Given the description of an element on the screen output the (x, y) to click on. 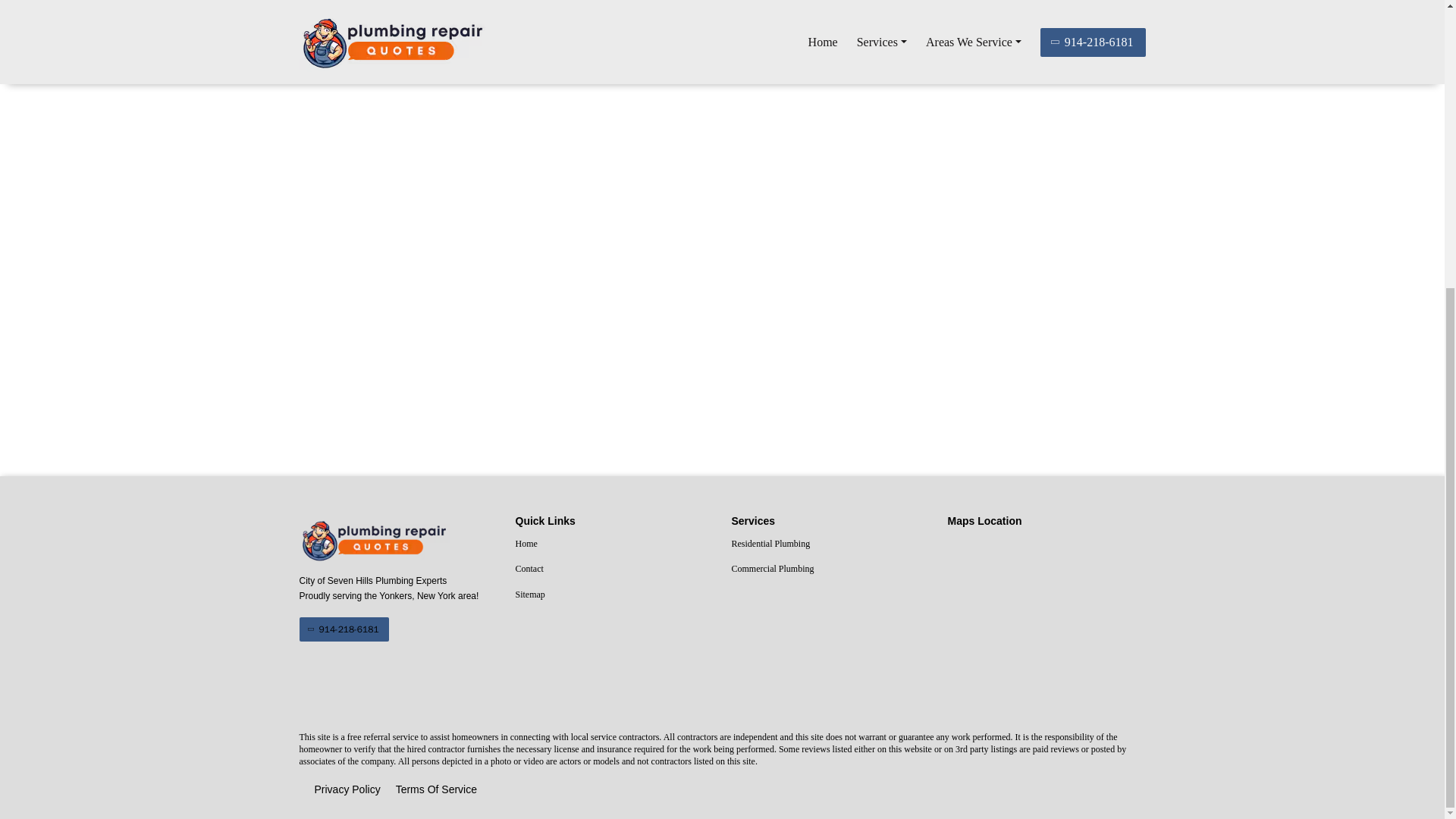
Residential Plumbing (829, 544)
Privacy Policy (347, 790)
Contact (614, 569)
Commercial Plumbing (829, 569)
Sitemap (614, 595)
Home (614, 544)
Terms Of Service (436, 790)
914-218-6181 (343, 629)
